Given the description of an element on the screen output the (x, y) to click on. 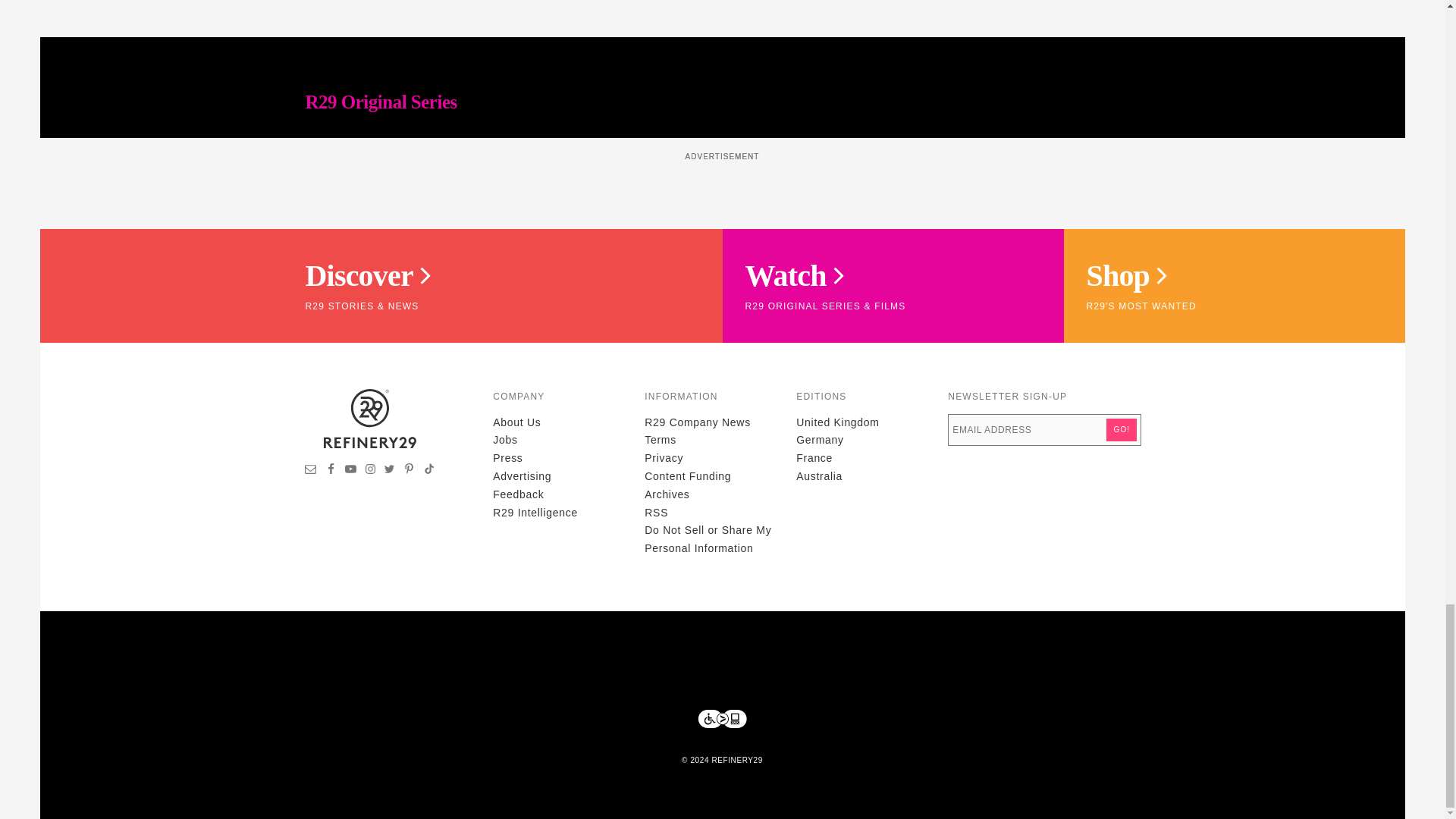
Visit Refinery29 on YouTube (350, 470)
Visit Refinery29 on TikTok (428, 470)
Sign up for newsletters (310, 470)
